Given the description of an element on the screen output the (x, y) to click on. 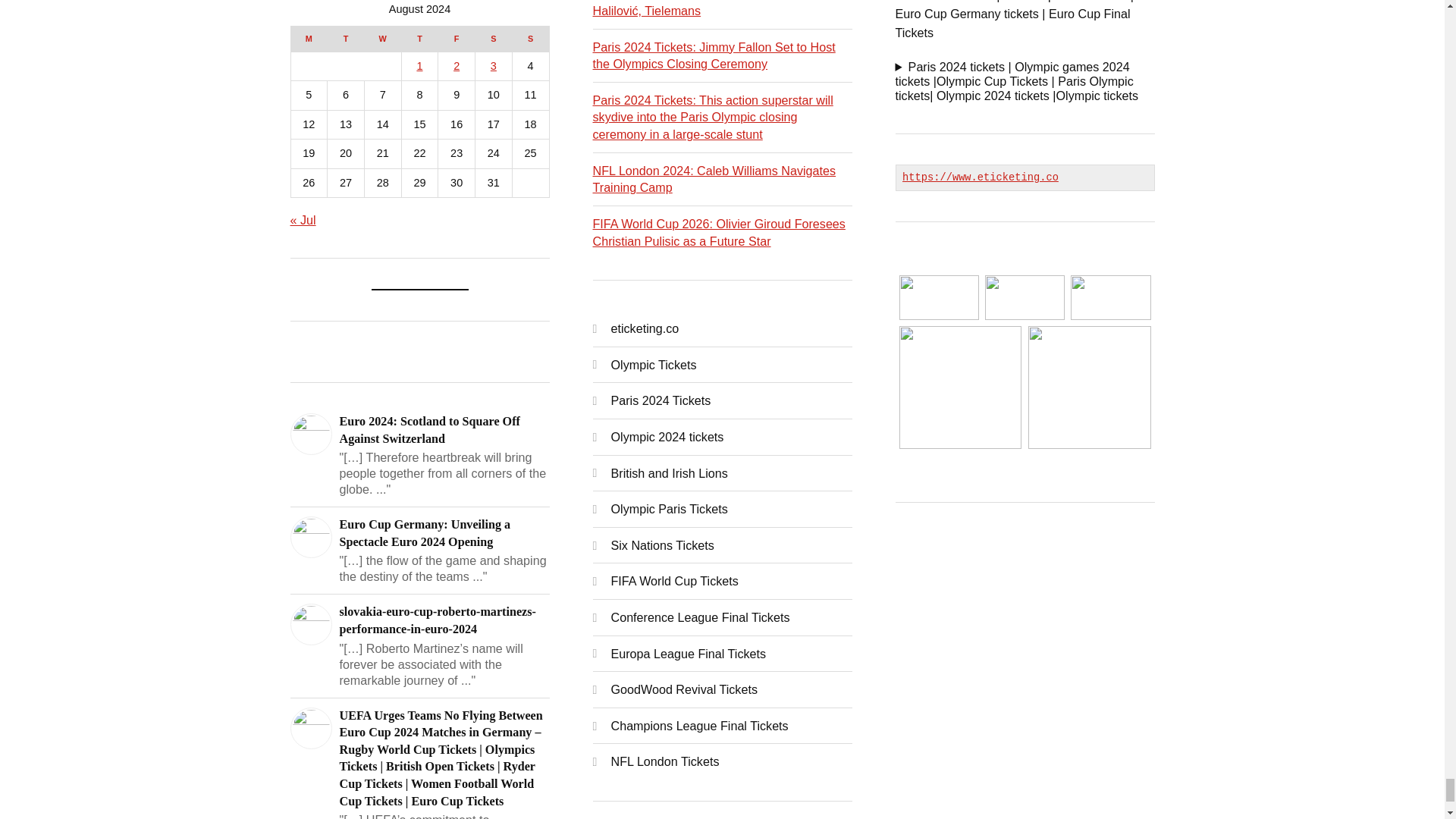
Monday (308, 38)
Saturday (494, 38)
Friday (457, 38)
Wednesday (382, 38)
Sunday (530, 38)
Thursday (419, 38)
Tuesday (346, 38)
